Given the description of an element on the screen output the (x, y) to click on. 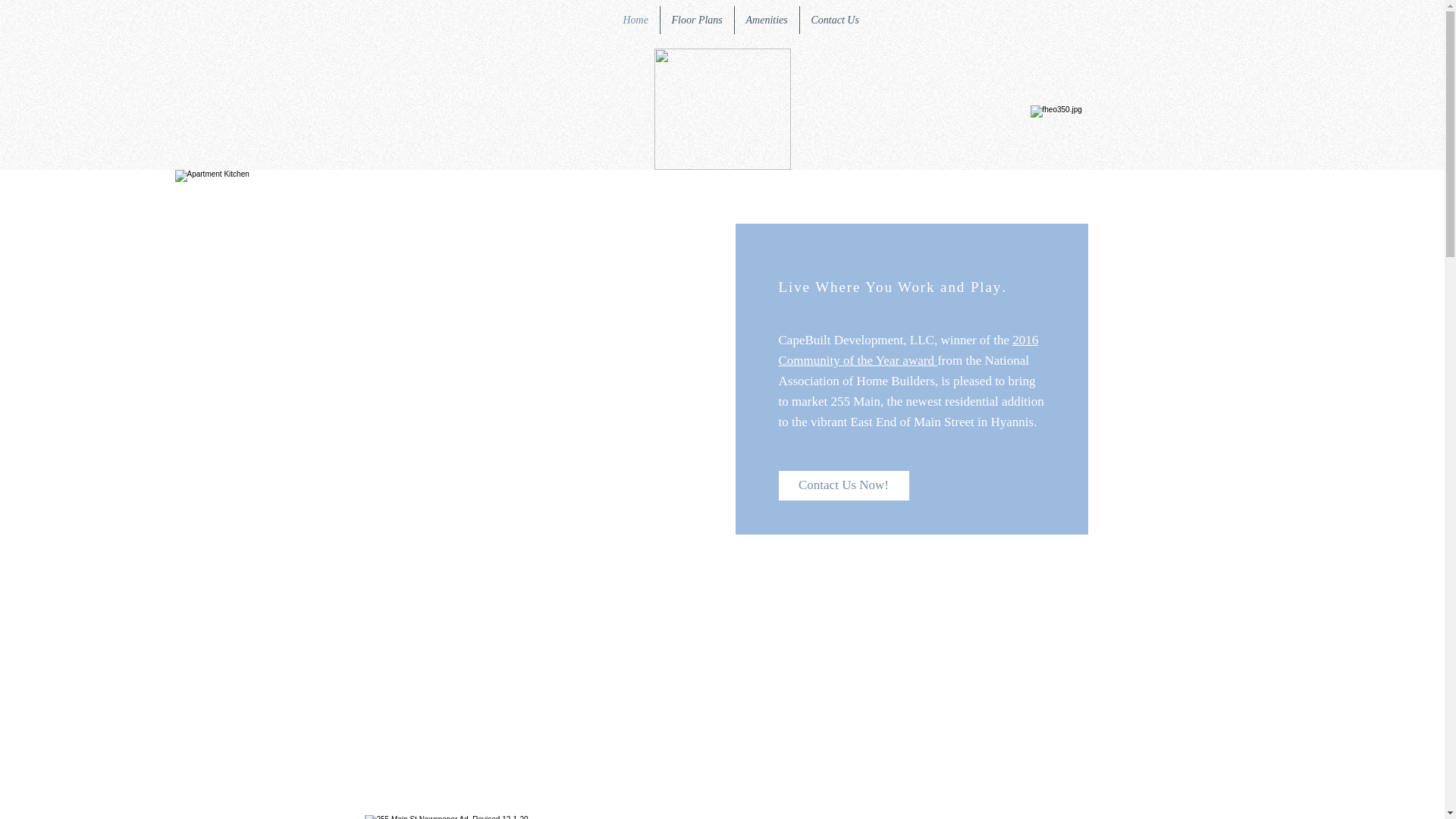
Contact Us Element type: text (834, 20)
Amenities Element type: text (766, 20)
Home Element type: text (634, 20)
Floor Plans Element type: text (696, 20)
2016 Community of the Year award Element type: text (908, 349)
Contact Us Now! Element type: text (843, 485)
